Given the description of an element on the screen output the (x, y) to click on. 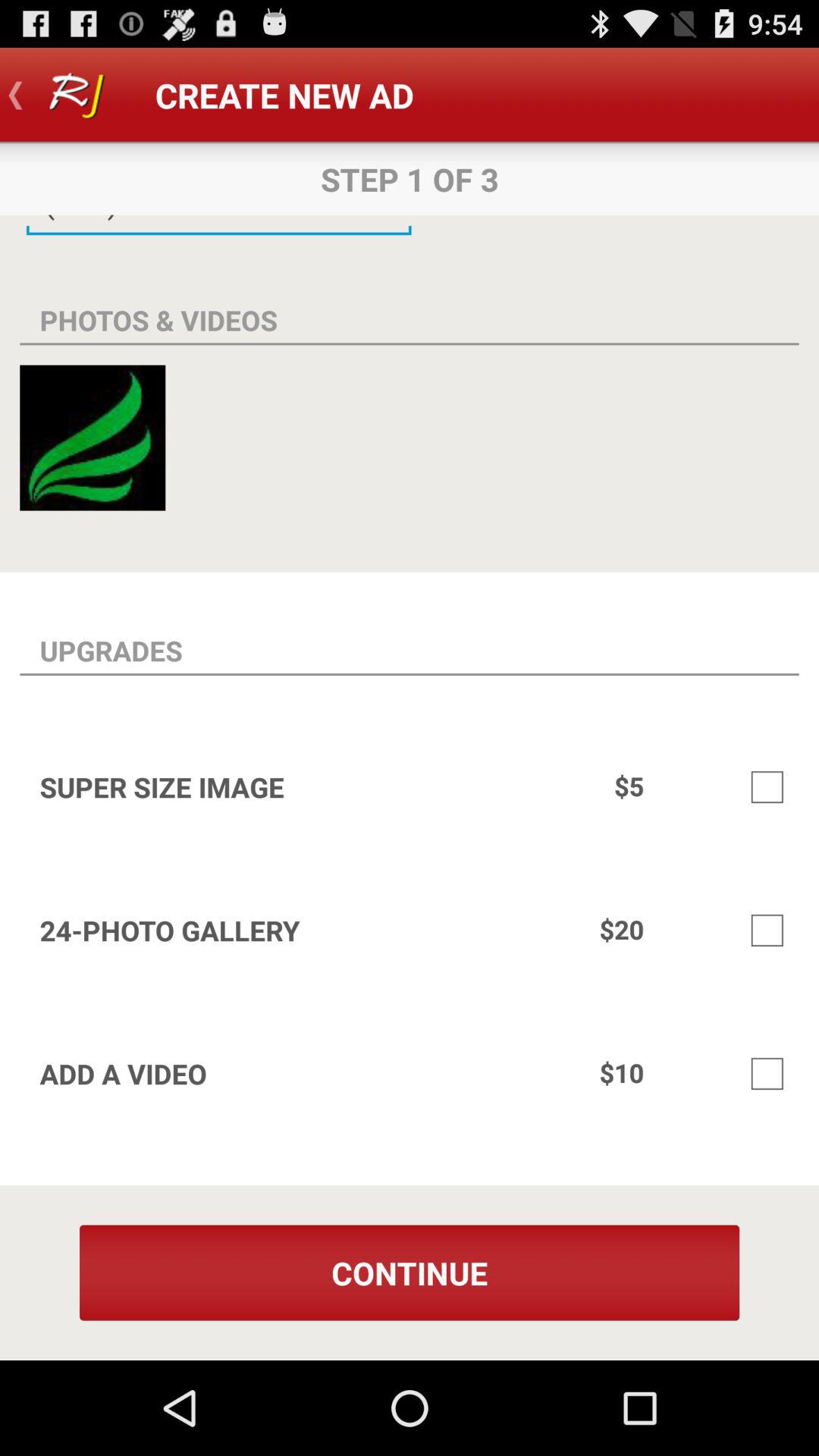
select super sized image (767, 787)
